Given the description of an element on the screen output the (x, y) to click on. 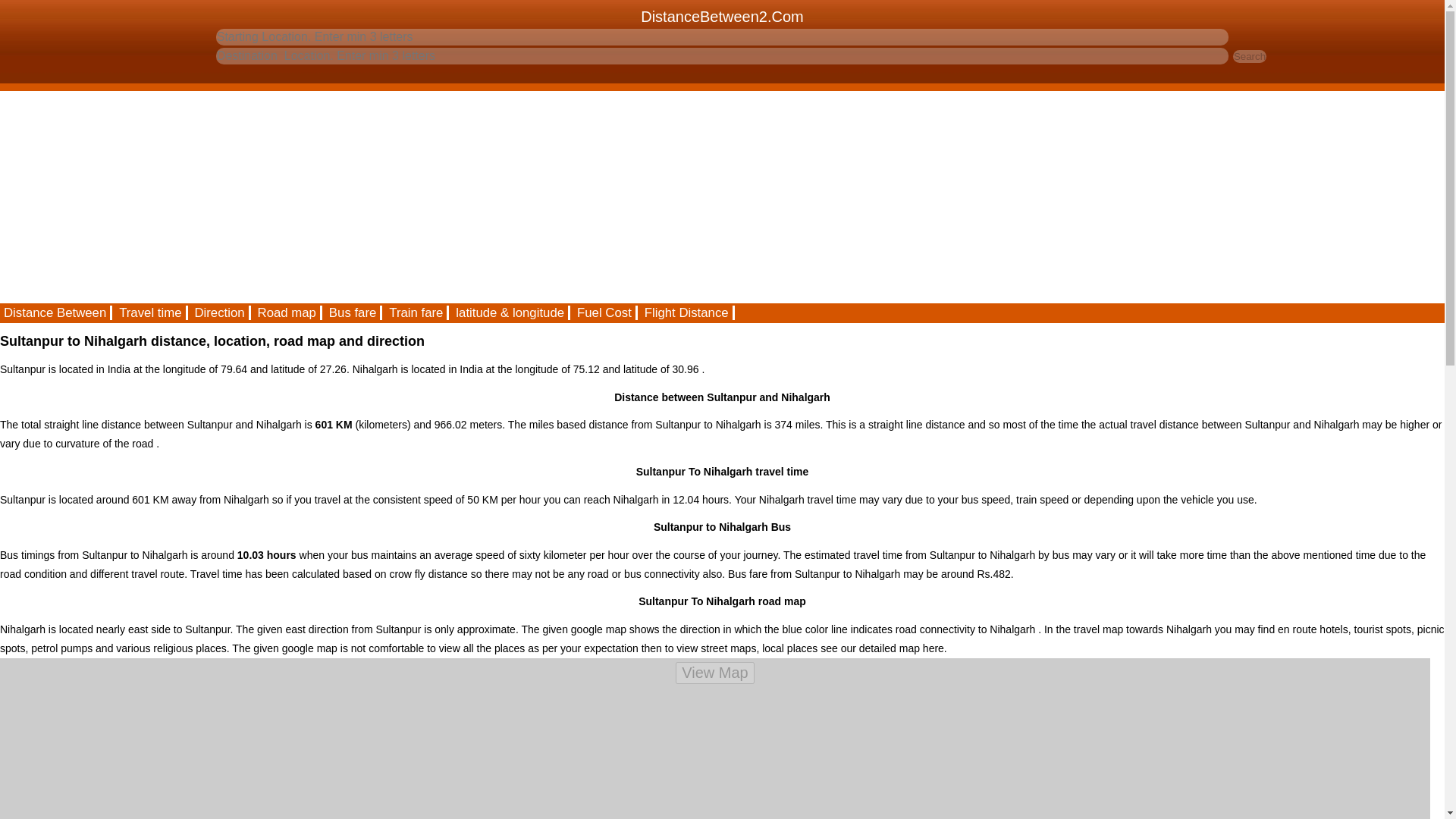
View Map (714, 672)
driving direction (220, 312)
Fuel Cost (605, 312)
Bus fare (353, 312)
Travel time (151, 312)
Distance Between (56, 312)
Search (1249, 56)
Flight Distance (687, 312)
Road map (287, 312)
Direction (220, 312)
